Given the description of an element on the screen output the (x, y) to click on. 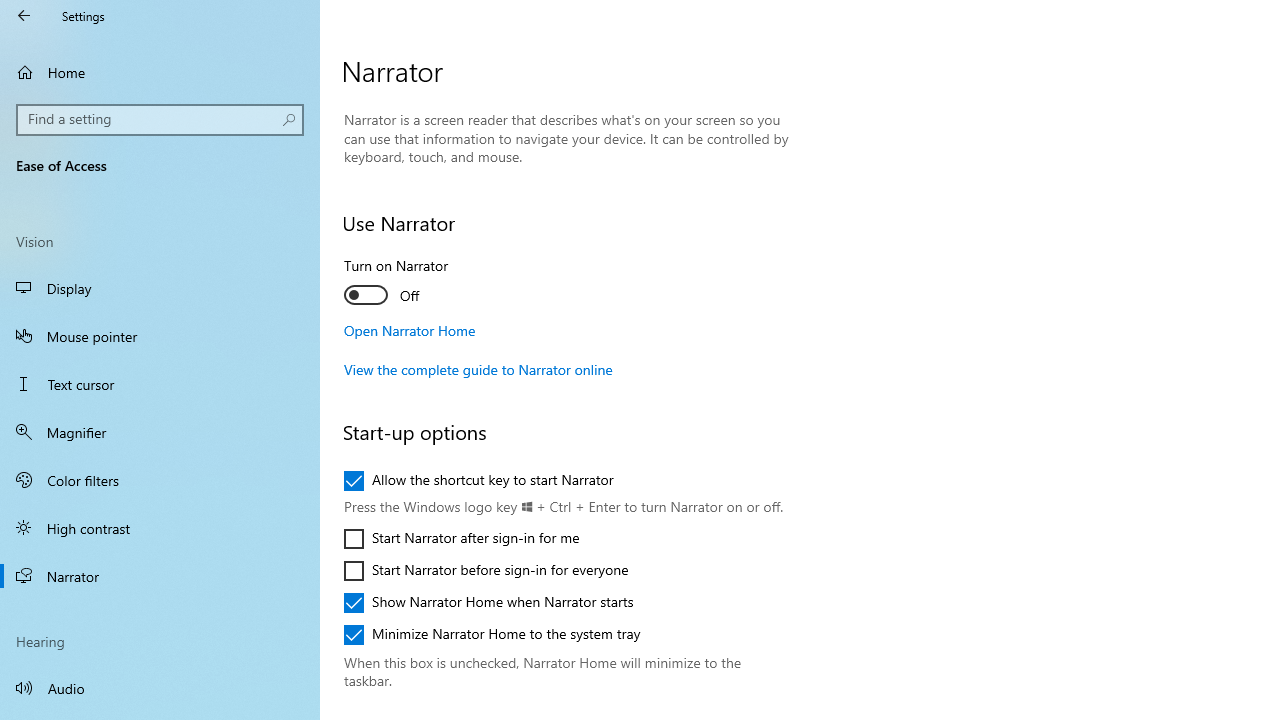
Minimize Narrator Home to the system tray (492, 634)
Magnifier (160, 431)
High contrast (160, 527)
Start Narrator before sign-in for everyone (486, 570)
